Given the description of an element on the screen output the (x, y) to click on. 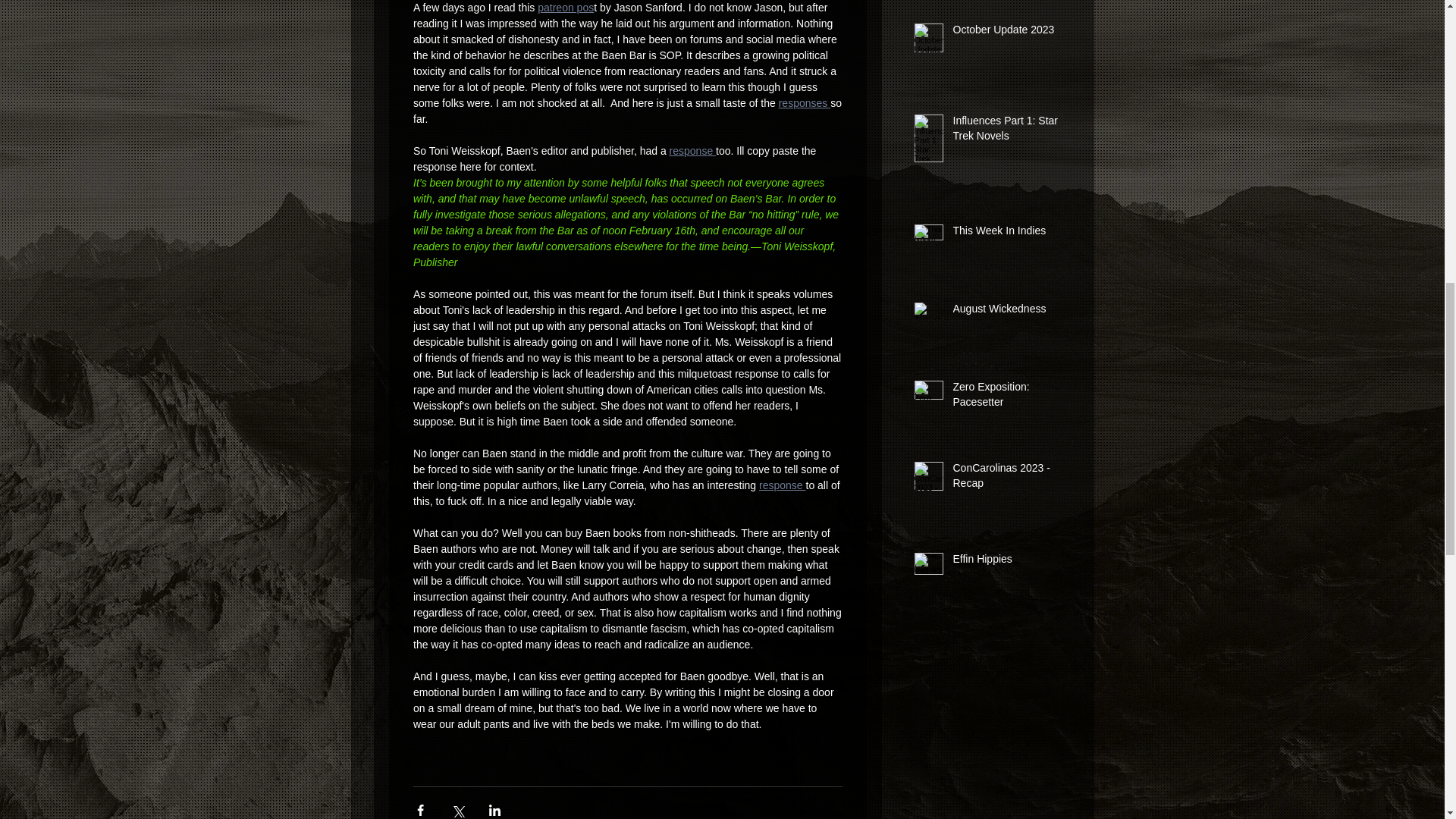
This Week In Indies (1006, 233)
ConCarolinas 2023 - Recap (1006, 478)
Zero Exposition: Pacesetter (1006, 397)
responses  (803, 102)
response  (781, 485)
October Update 2023 (1006, 33)
Influences Part 1: Star Trek Novels (1006, 131)
Effin Hippies (1006, 562)
response  (691, 150)
August Wickedness (1006, 312)
patreon pos (565, 7)
